Given the description of an element on the screen output the (x, y) to click on. 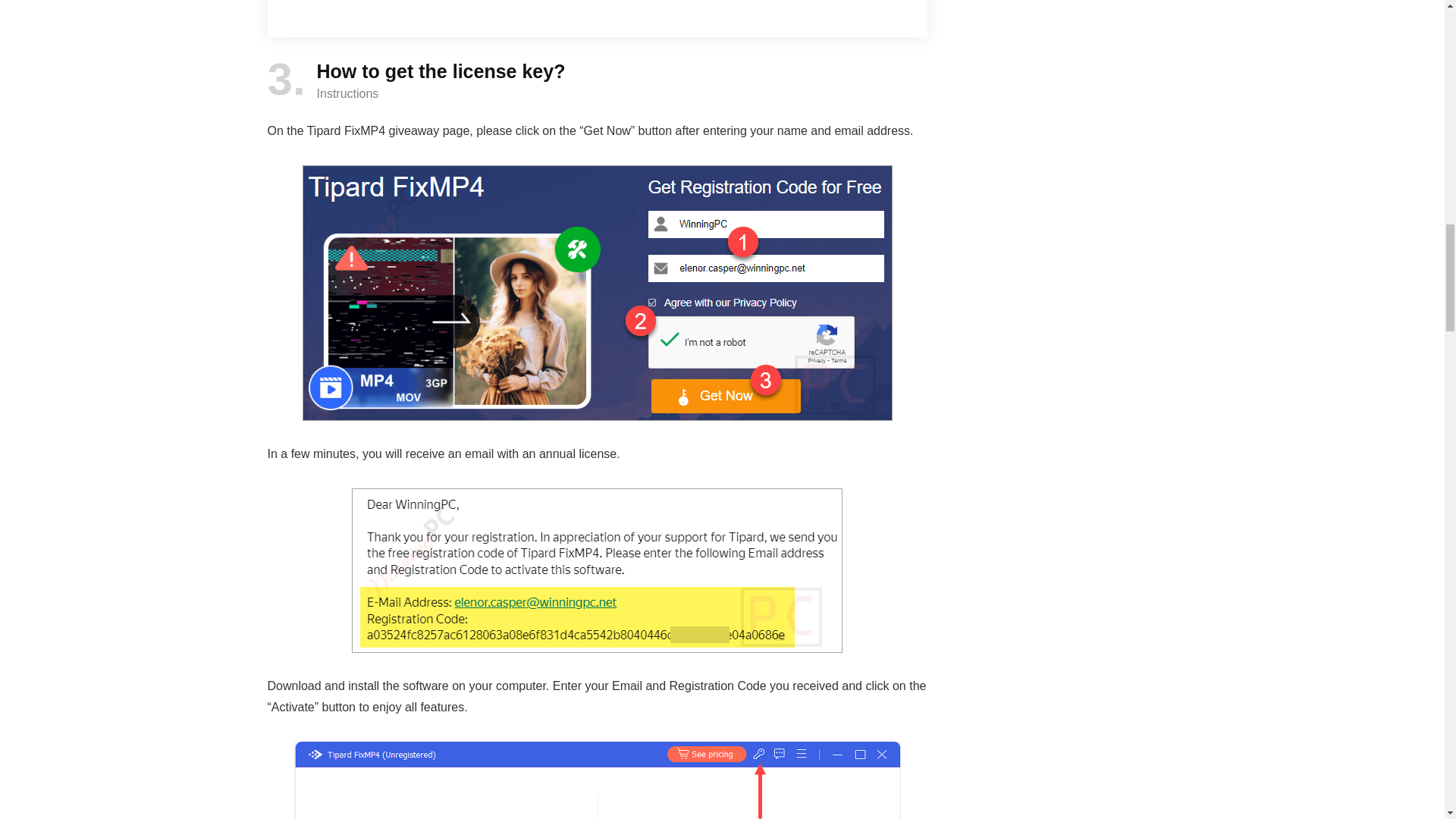
Get Tipard Fixmp4 License (597, 570)
Regsiter Tipard (597, 780)
